Given the description of an element on the screen output the (x, y) to click on. 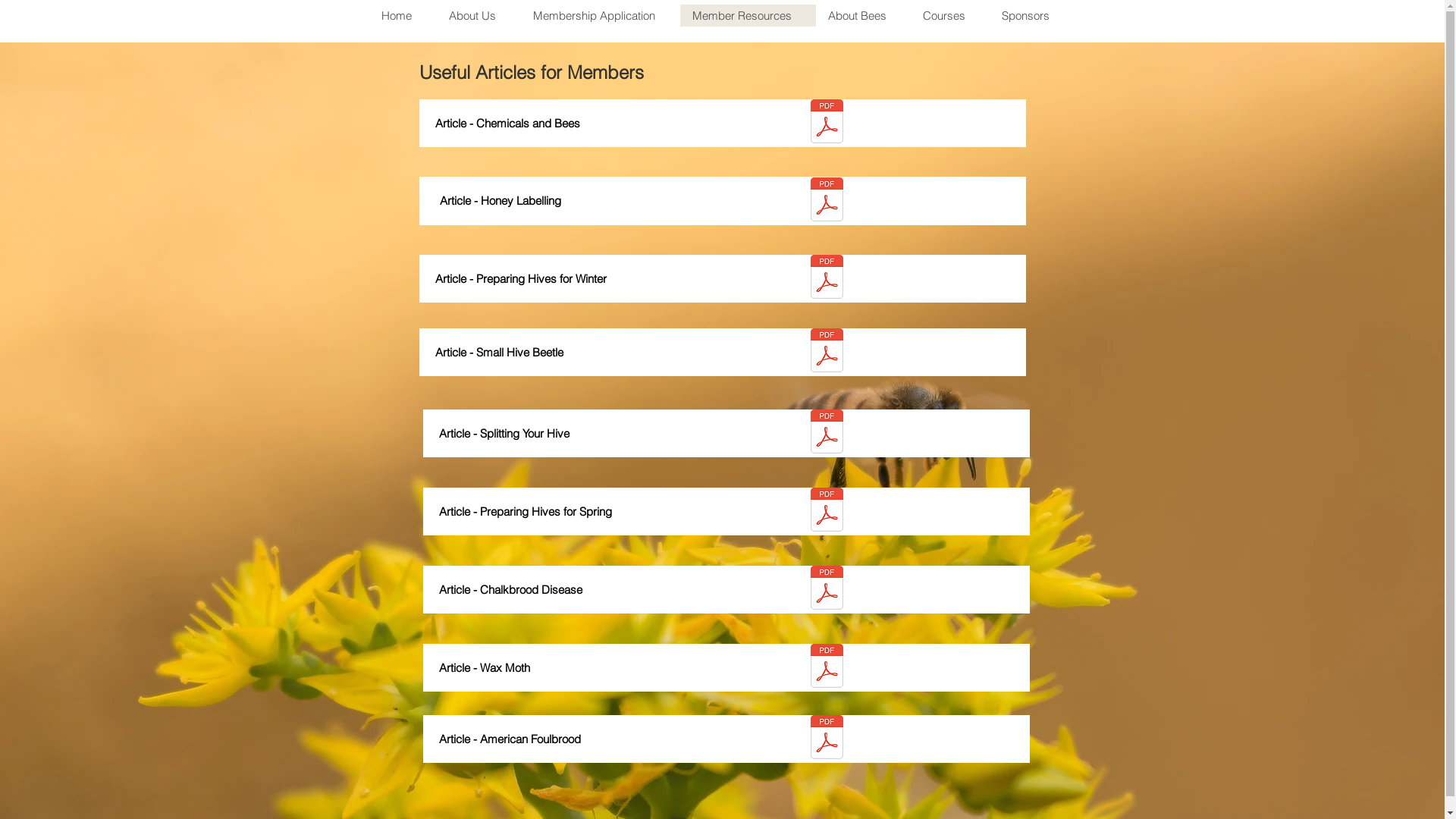
Article - splitting your hive.pdf Element type: hover (826, 432)
210719 Article - Small hive beetle.pdf Element type: hover (826, 351)
Member Resources Element type: text (747, 15)
Membership Application Element type: text (599, 15)
Article - wax-moth.pdf Element type: hover (826, 666)
Article - Honey labelling.pdf Element type: hover (826, 200)
About Bees Element type: text (862, 15)
Article - Chalkbrood-disease-FS.pdf Element type: hover (826, 588)
Courses Element type: text (949, 15)
Home Element type: text (403, 15)
Sponsors Element type: text (1030, 15)
Aticle - American-foulbrood.pdf Element type: hover (826, 738)
210416 Article - Preparing hives for Winter.pdf Element type: hover (826, 277)
About Us Element type: text (478, 15)
Article - preparing hives for spring.pdf Element type: hover (826, 510)
Article - Chemicals and bees.pdf Element type: hover (826, 122)
